Given the description of an element on the screen output the (x, y) to click on. 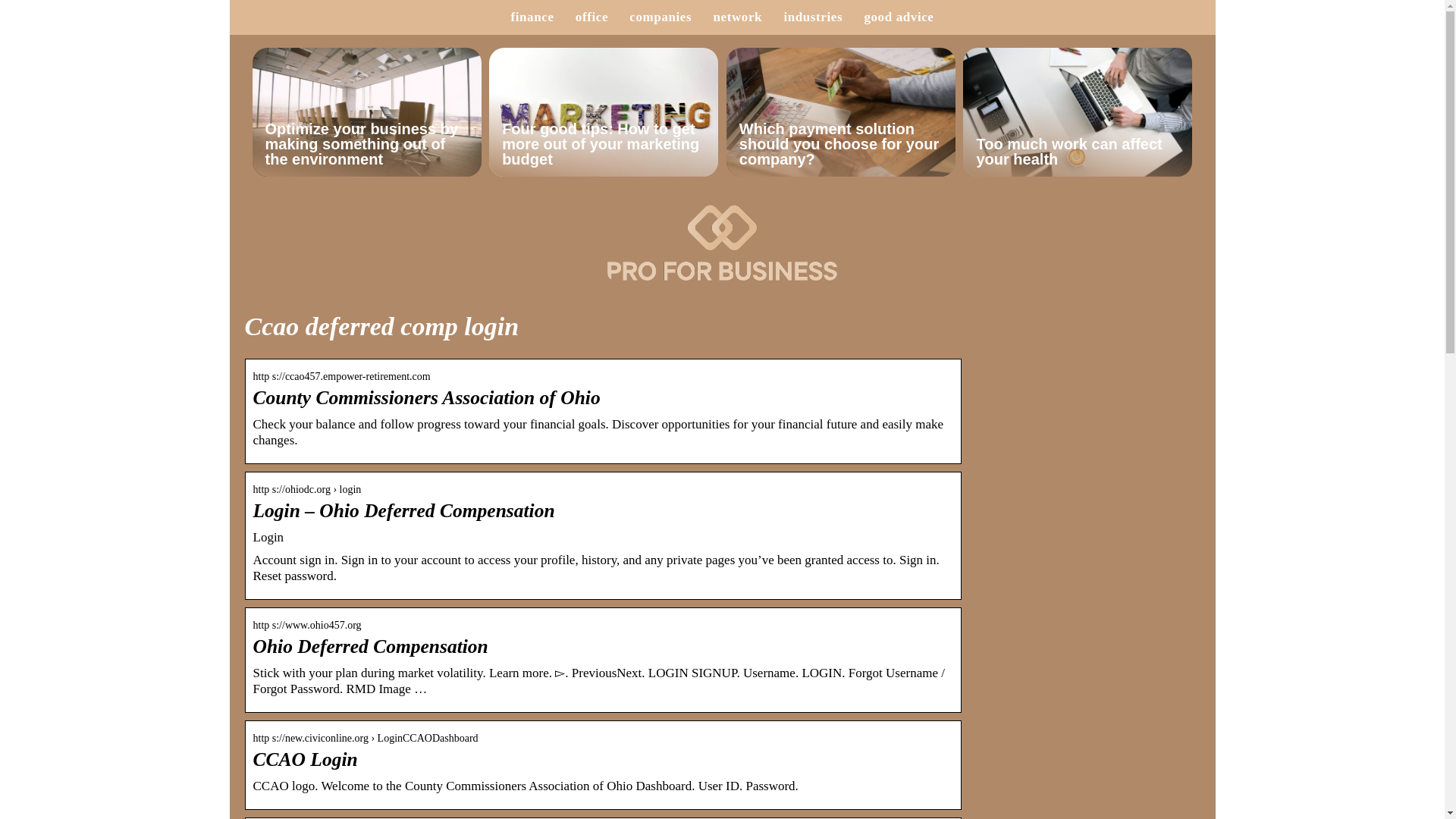
good advice (898, 16)
Four good tips: How to get more out of your marketing budget (603, 111)
office (591, 16)
Which payment solution should you choose for your company? (840, 111)
Too much work can affect your health (1077, 111)
finance (532, 16)
companies (659, 16)
industries (813, 16)
network (737, 16)
